Given the description of an element on the screen output the (x, y) to click on. 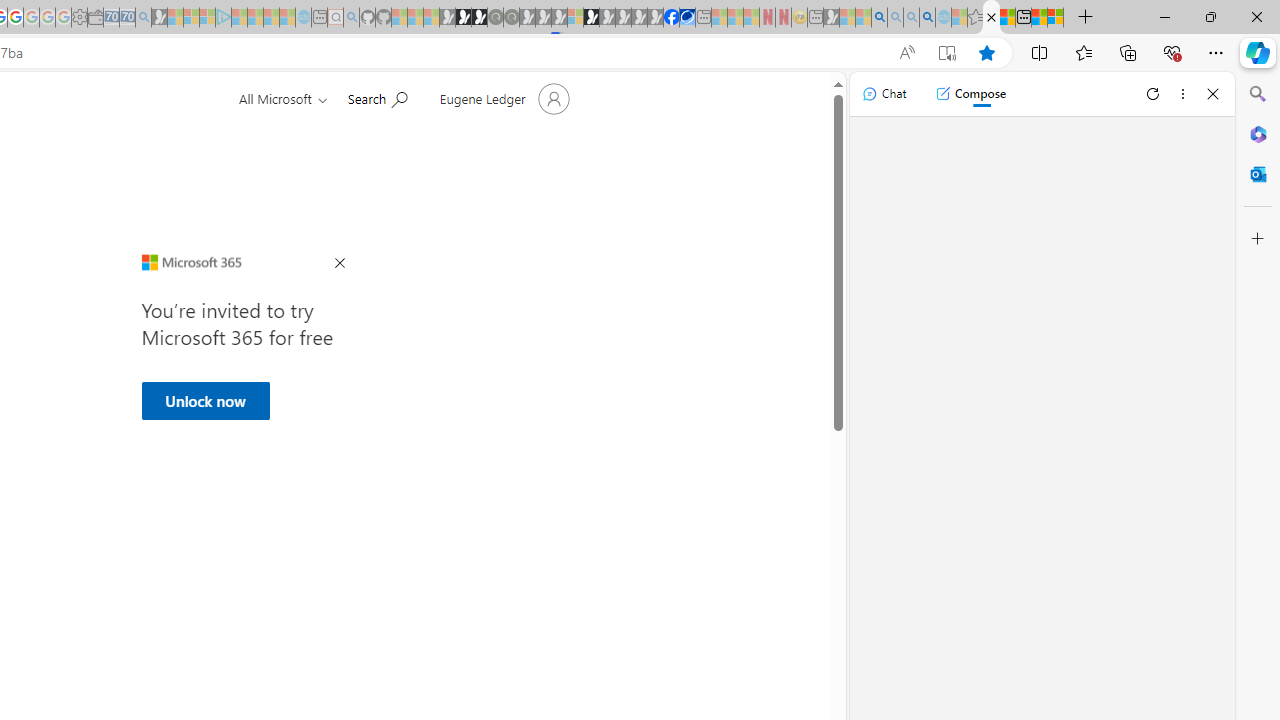
Favorites - Sleeping (975, 17)
Search for help (377, 97)
